Given the description of an element on the screen output the (x, y) to click on. 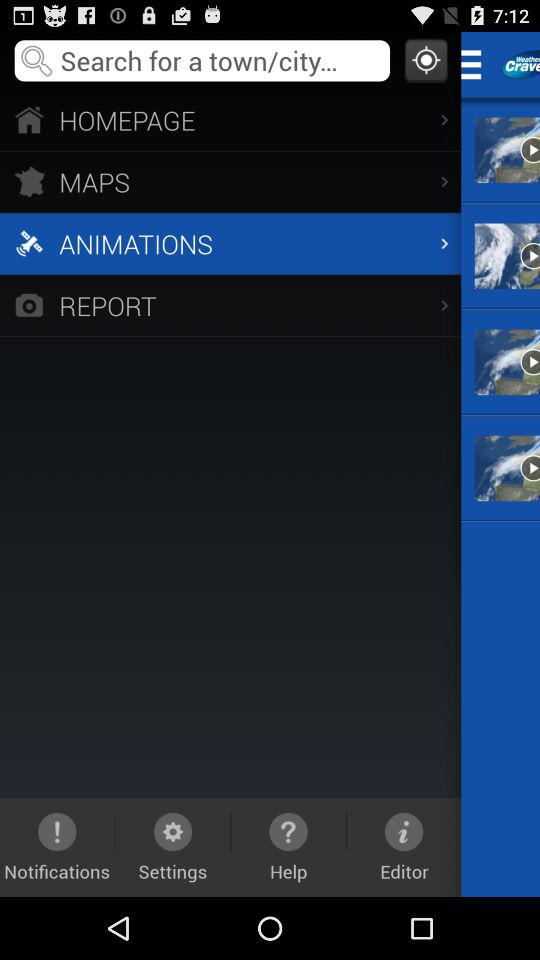
turn off the item above the animations (230, 181)
